Given the description of an element on the screen output the (x, y) to click on. 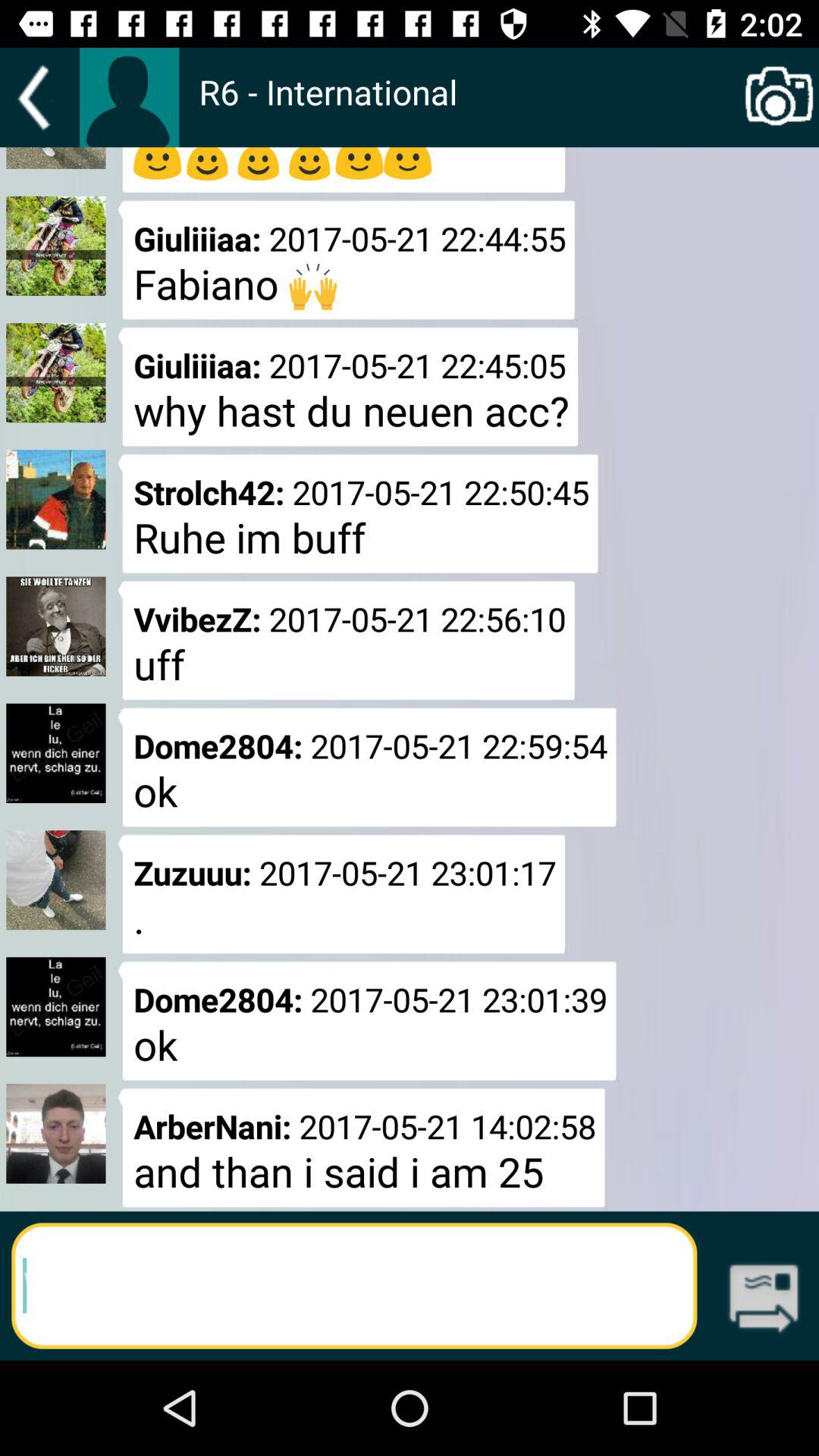
enter text (354, 1285)
